Given the description of an element on the screen output the (x, y) to click on. 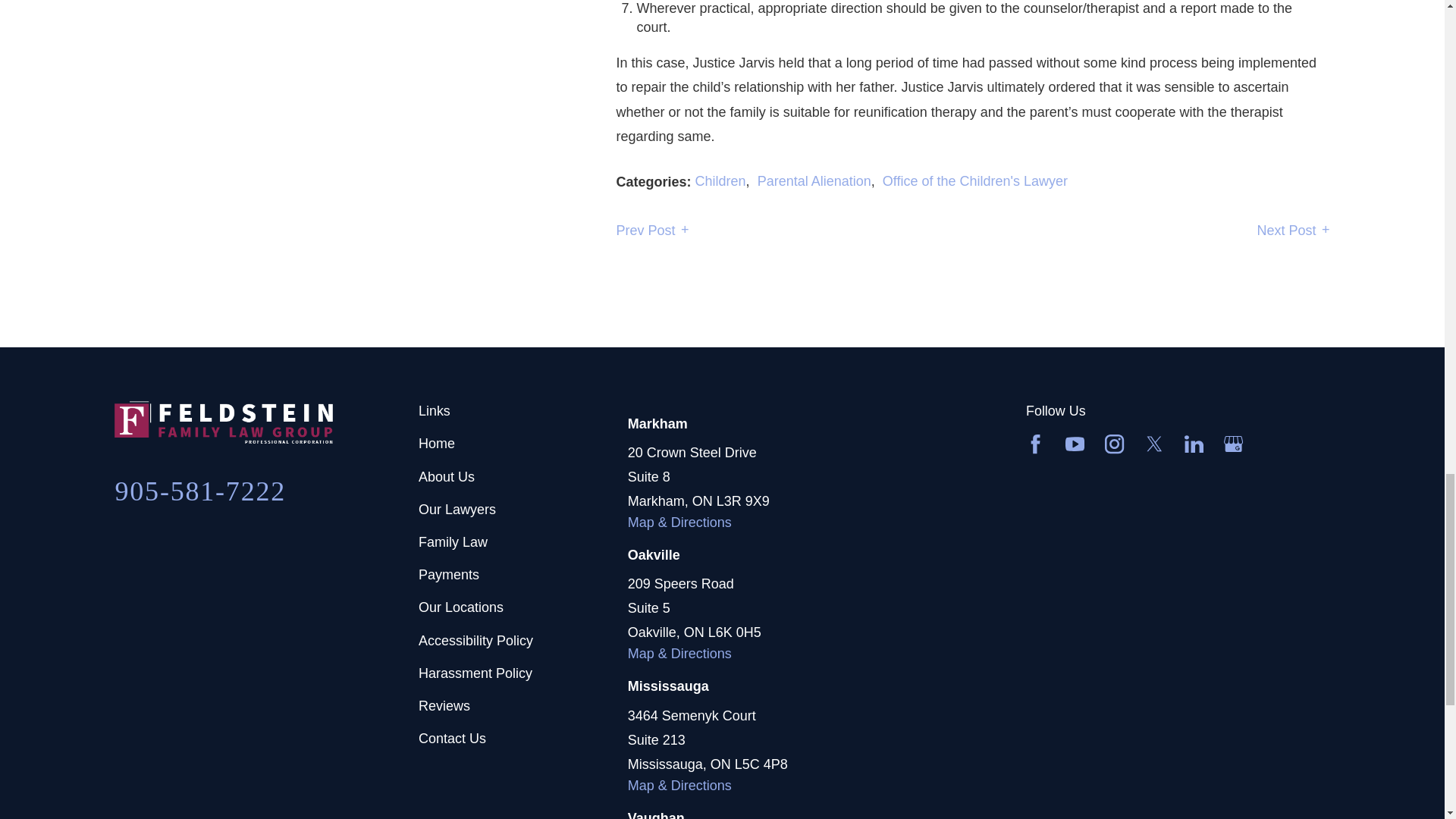
Home (267, 422)
